Given the description of an element on the screen output the (x, y) to click on. 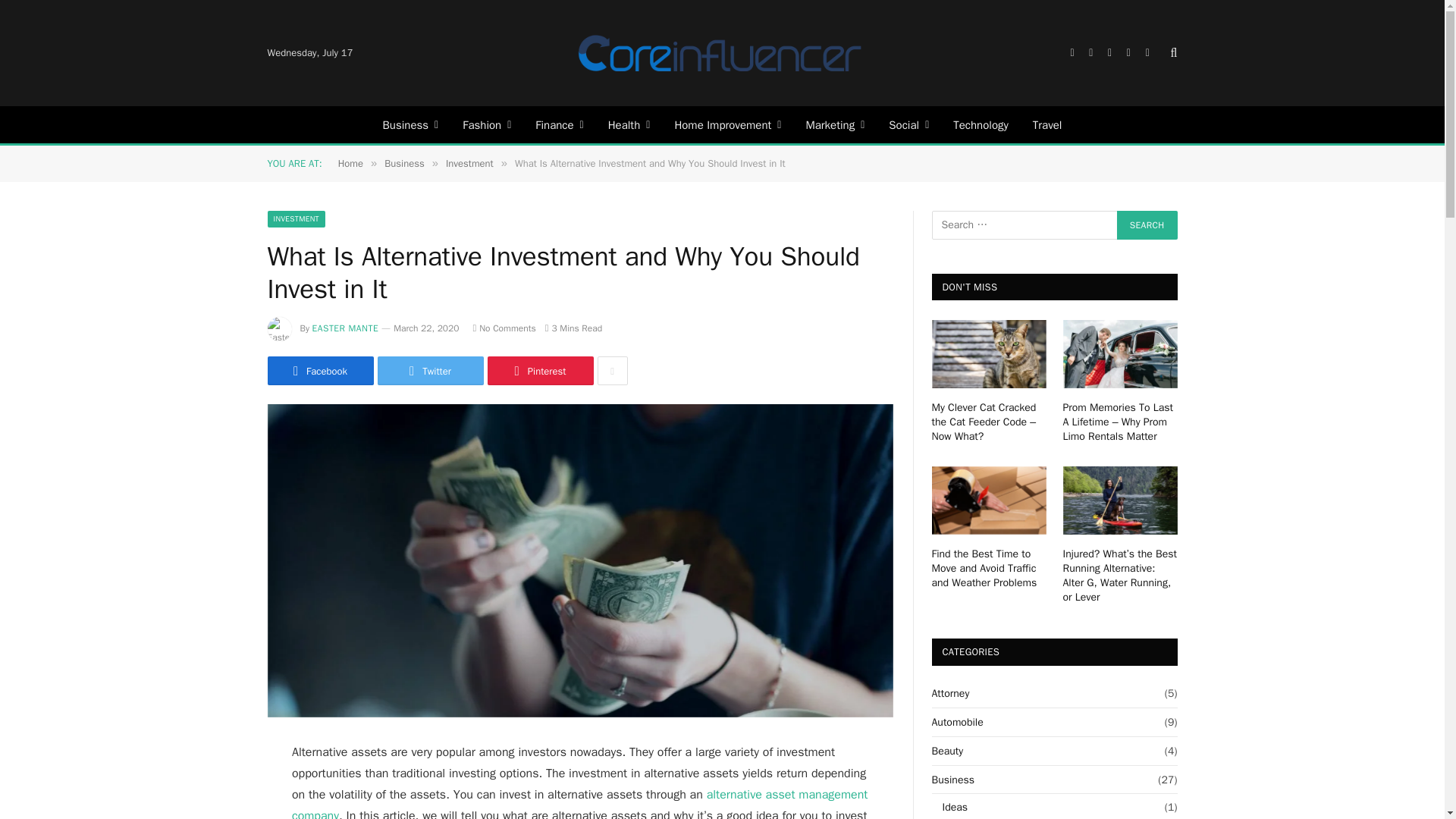
Finance (558, 124)
Social (908, 124)
Search (1146, 224)
Show More Social Sharing (611, 370)
Posts by Easter Mante (345, 328)
Share on Pinterest (539, 370)
Search (1146, 224)
Travel (1047, 124)
Business (411, 124)
Core Influencer (719, 53)
Share on Facebook (319, 370)
Marketing (834, 124)
Technology (980, 124)
Health (628, 124)
